Given the description of an element on the screen output the (x, y) to click on. 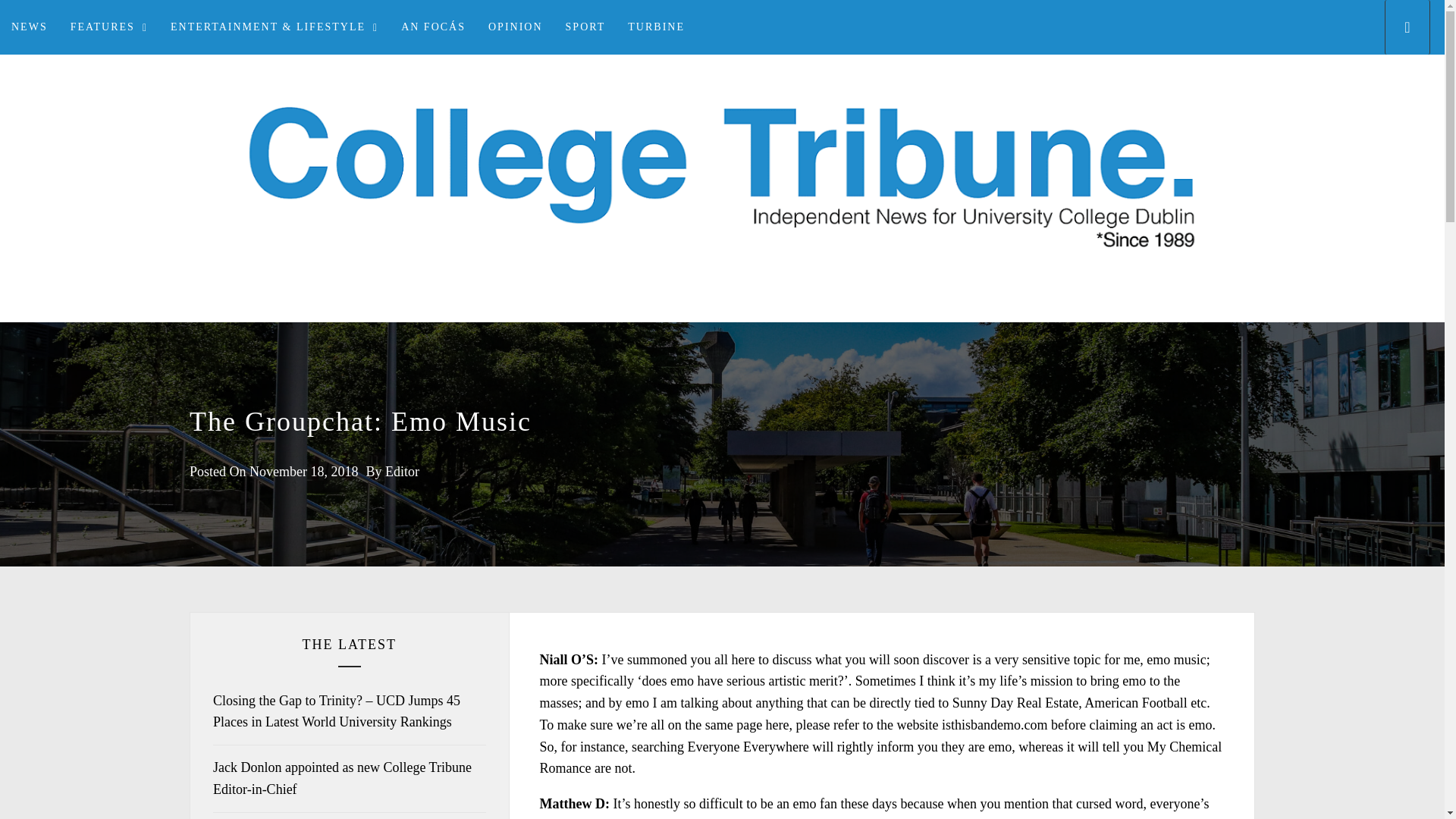
Editor (402, 471)
FEATURES (108, 27)
SPORT (585, 27)
Search (797, 407)
NEWS (29, 27)
COLLEGE TRIBUNE (721, 320)
TURBINE (655, 27)
OPINION (515, 27)
November 18, 2018 (303, 471)
